Given the description of an element on the screen output the (x, y) to click on. 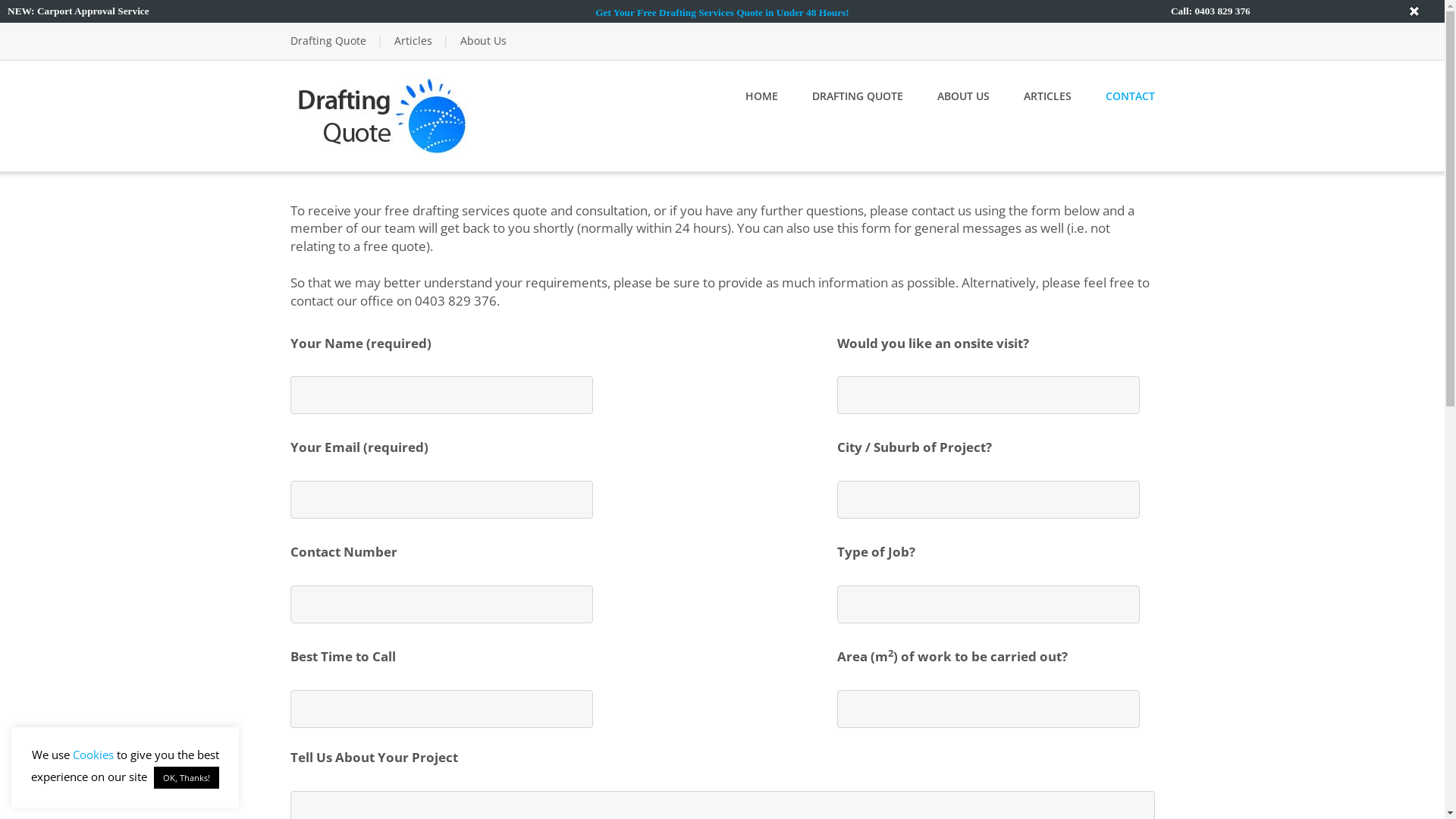
HOME Element type: text (760, 96)
Articles Element type: text (413, 40)
Get Your Free Drafting Services Quote in Under 48 Hours! Element type: text (722, 12)
DRAFTING QUOTE Element type: text (856, 96)
NEW: Carport Approval Service Element type: text (78, 10)
Cookies Element type: text (92, 754)
Drafting Quote Element type: hover (381, 113)
ABOUT US Element type: text (963, 96)
Drafting Quote Element type: text (327, 40)
About Us Element type: text (482, 40)
CONTACT Element type: text (1129, 96)
Call: 0403 829 376 Element type: text (1210, 10)
ARTICLES Element type: text (1047, 96)
OK, Thanks! Element type: text (186, 777)
